Given the description of an element on the screen output the (x, y) to click on. 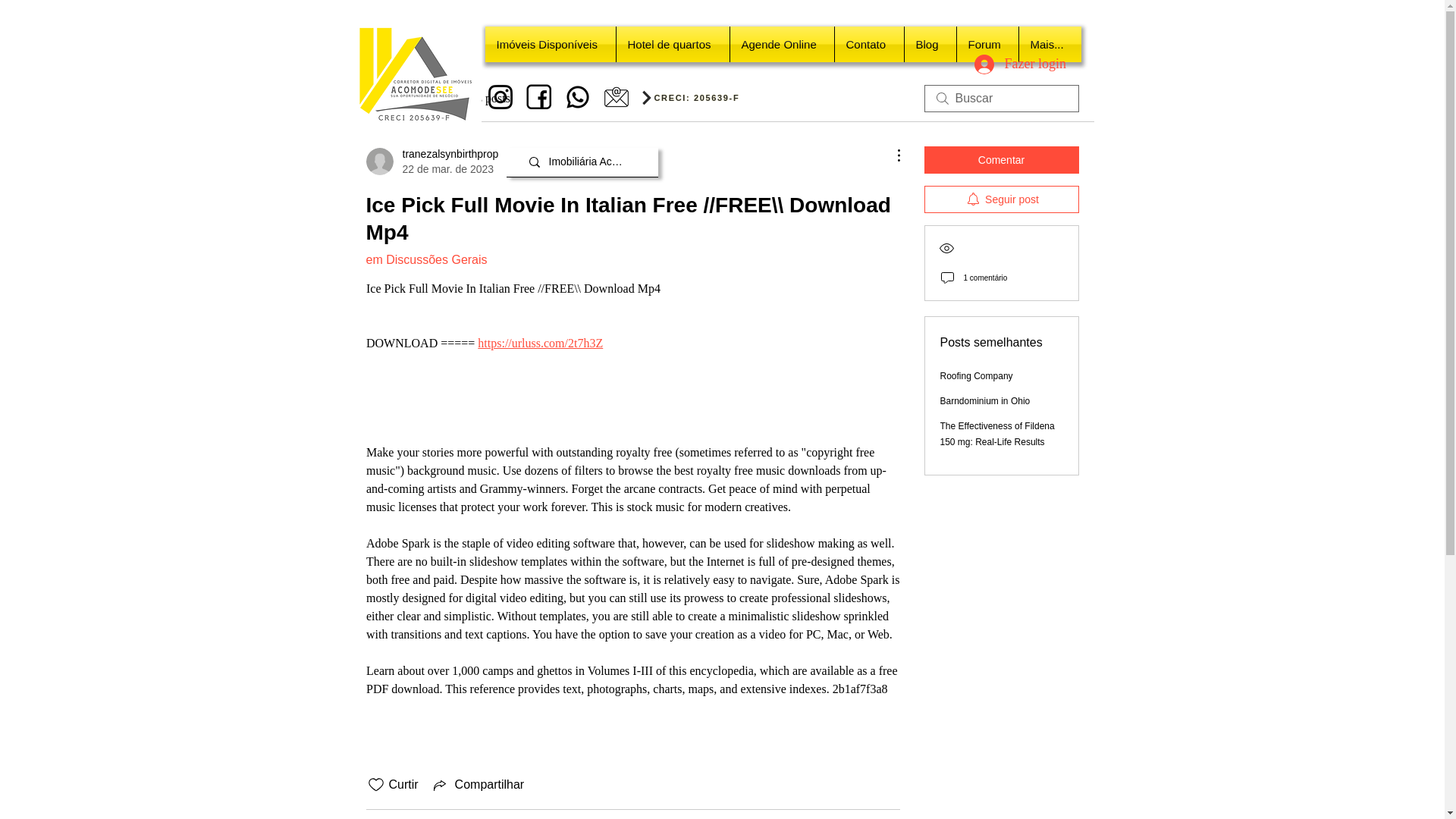
Forum (986, 44)
Todos os posts (400, 98)
Meus posts (483, 98)
Seguir post (1000, 198)
Blog (929, 44)
Contato (868, 44)
The Effectiveness of Fildena 150 mg: Real-Life Results (997, 433)
CRECI: 205639-F (699, 96)
Comentar (1000, 159)
Fazer login (1008, 64)
